Given the description of an element on the screen output the (x, y) to click on. 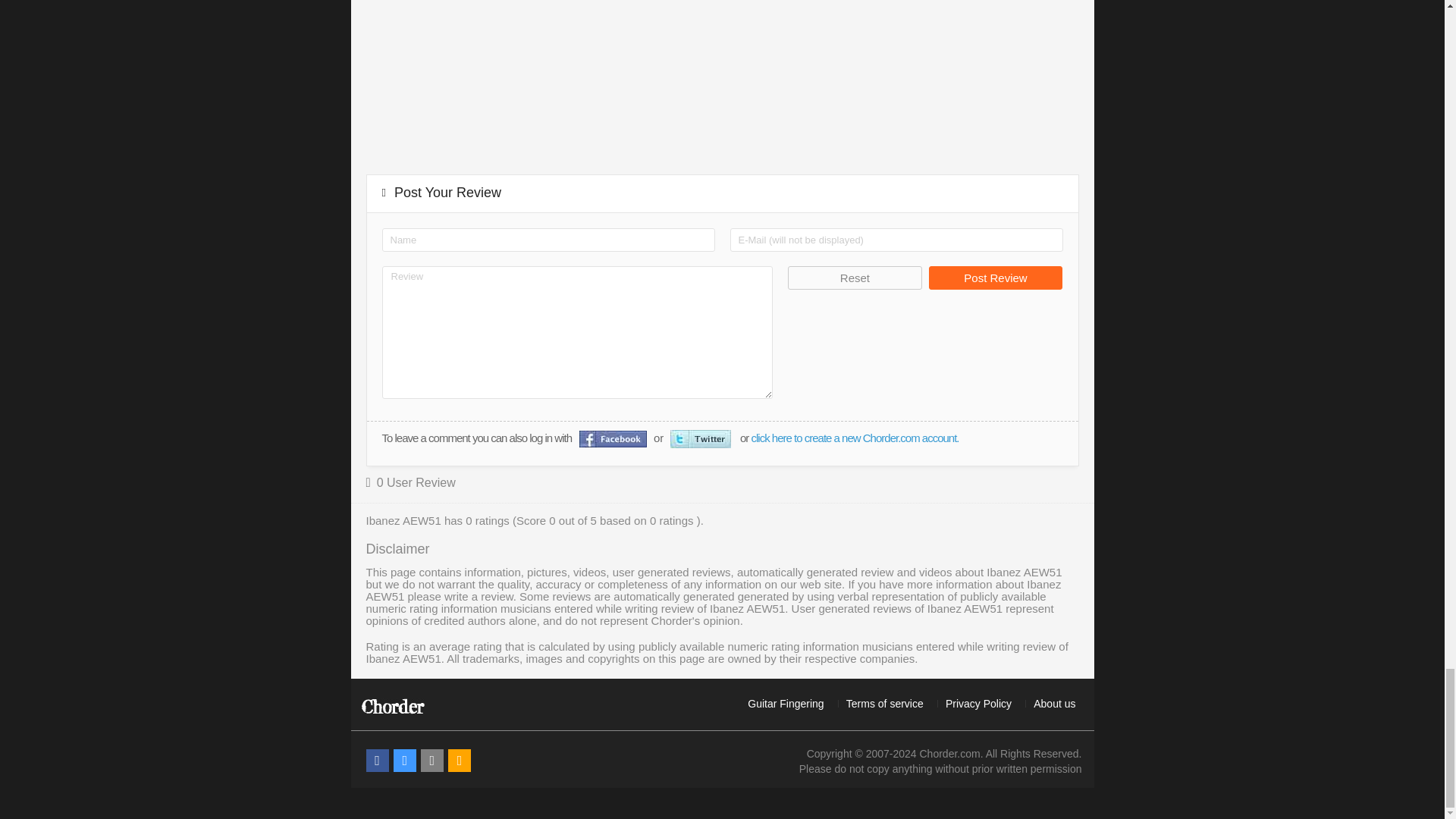
Post Review (995, 277)
